Given the description of an element on the screen output the (x, y) to click on. 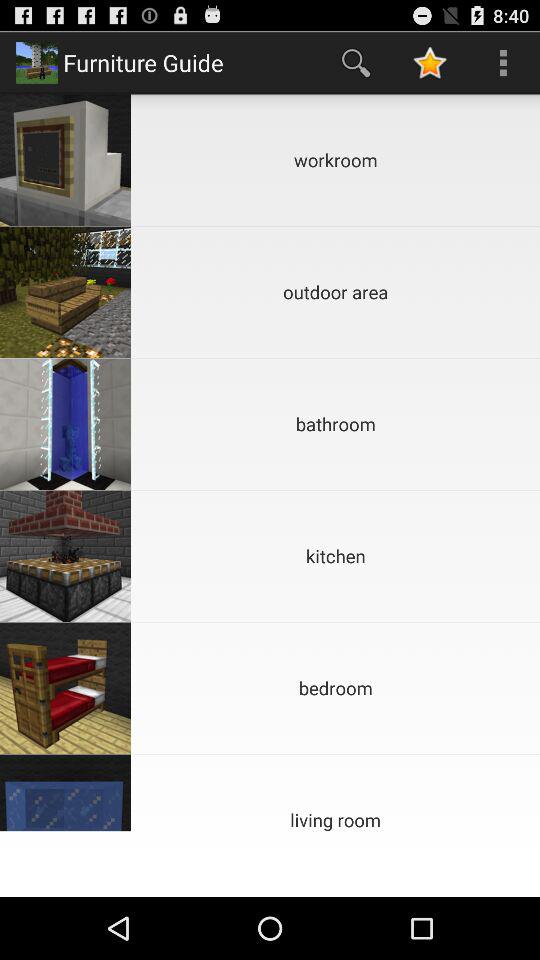
press the living room app (335, 792)
